Given the description of an element on the screen output the (x, y) to click on. 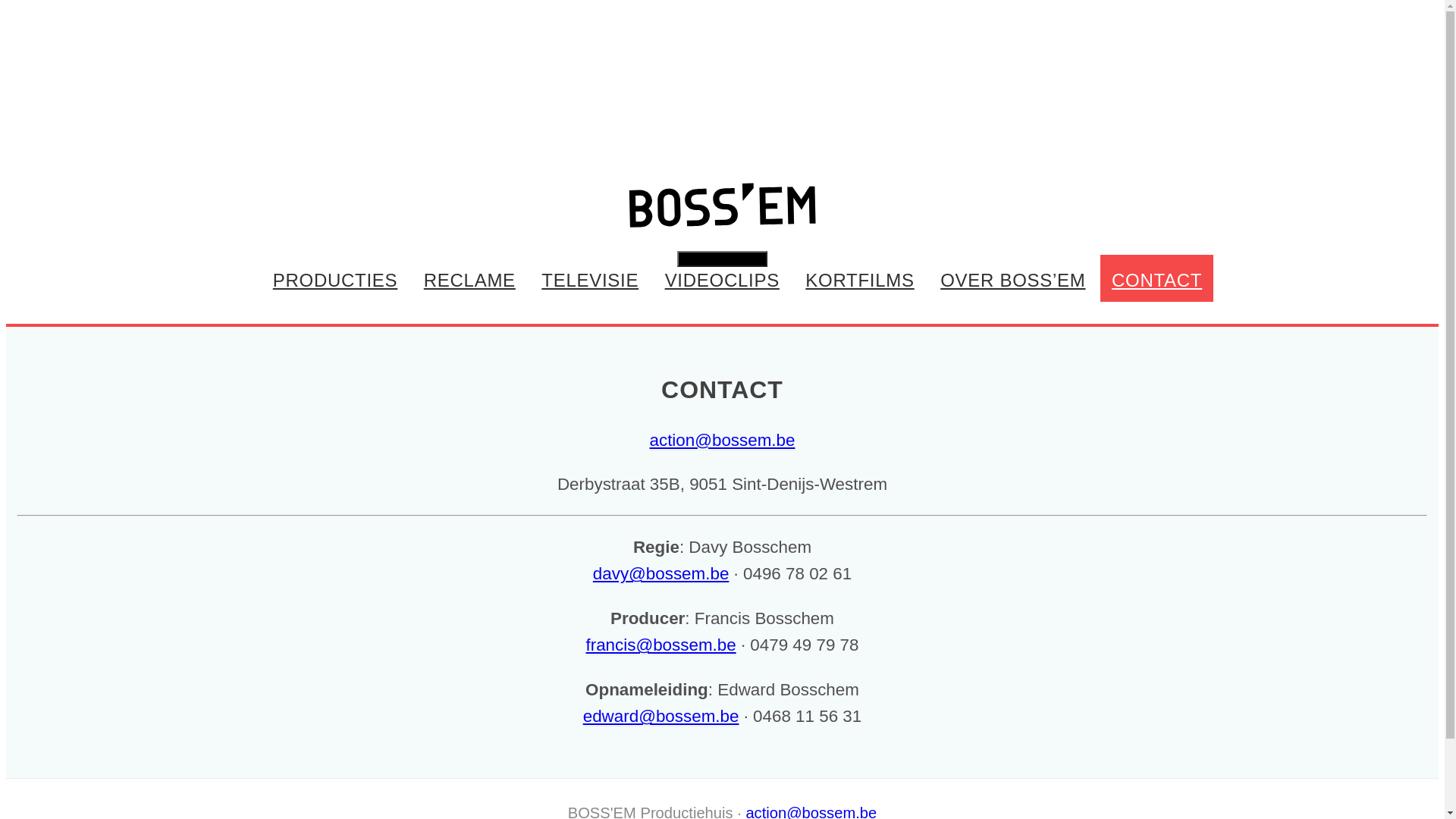
VIDEOCLIPS Element type: text (721, 277)
PRODUCTIES Element type: text (335, 277)
Toggle navigation Element type: text (722, 258)
RECLAME Element type: text (469, 277)
francis@bossem.be Element type: text (660, 645)
action@bossem.be Element type: text (721, 440)
davy@bossem.be Element type: text (661, 573)
CONTACT Element type: text (1156, 277)
edward@bossem.be Element type: text (661, 716)
TELEVISIE Element type: text (589, 277)
KORTFILMS Element type: text (859, 277)
